Given the description of an element on the screen output the (x, y) to click on. 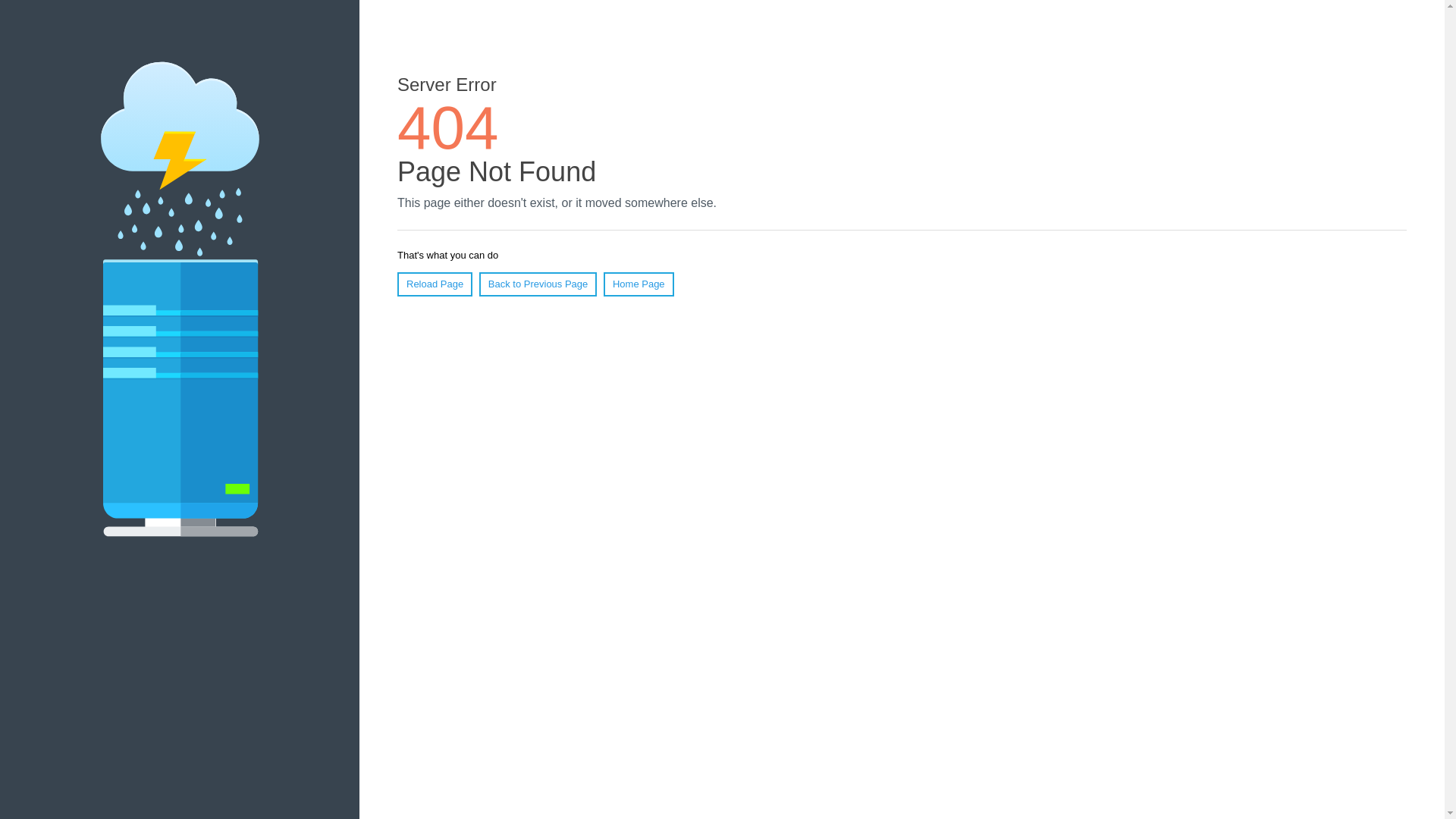
Reload Page Element type: text (434, 284)
Home Page Element type: text (638, 284)
Back to Previous Page Element type: text (538, 284)
